Given the description of an element on the screen output the (x, y) to click on. 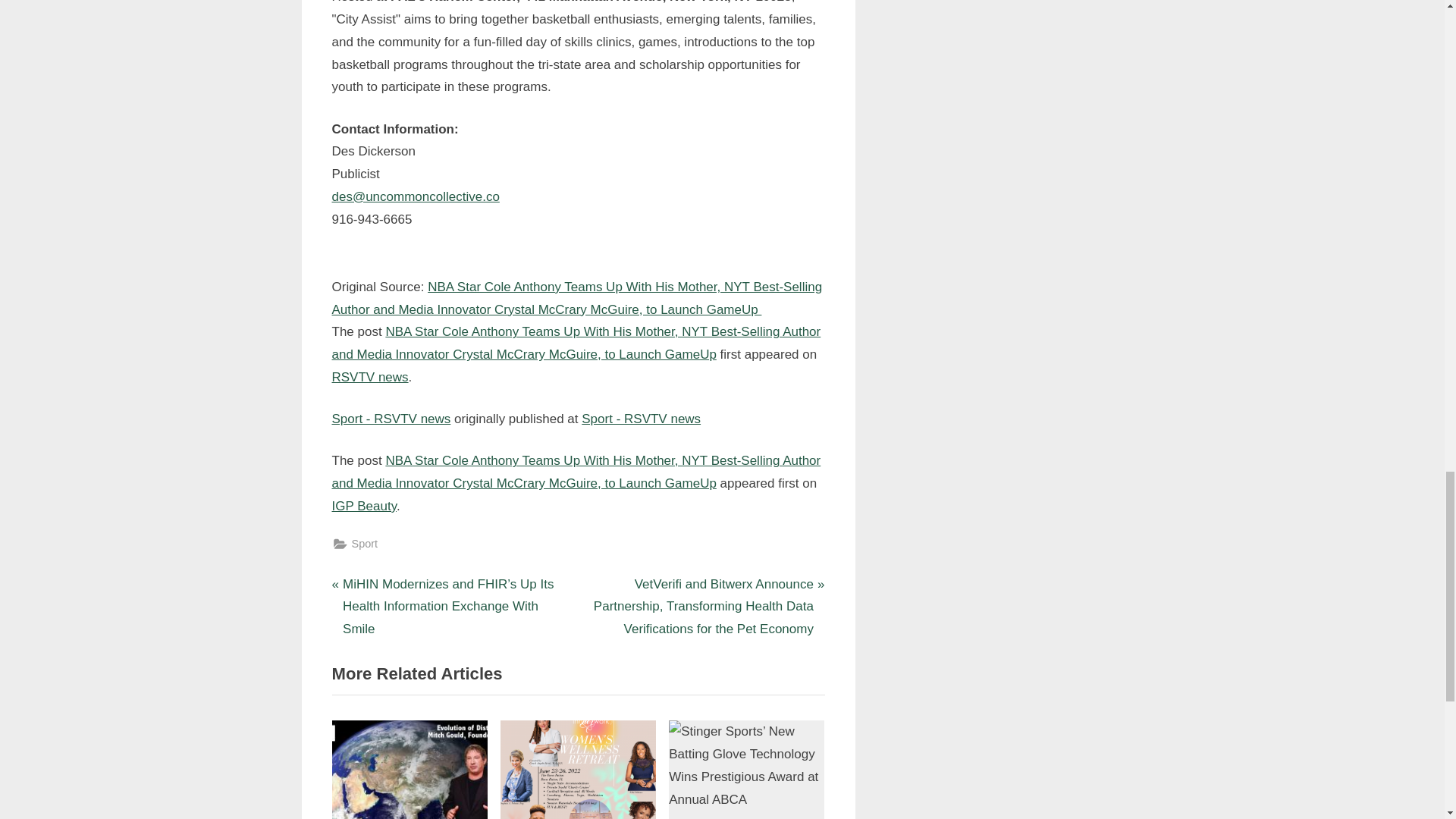
Sport - RSVTV news (391, 418)
IGP Beauty (363, 505)
Sport (365, 543)
Sport - RSVTV news (640, 418)
RSVTV news (370, 377)
